Given the description of an element on the screen output the (x, y) to click on. 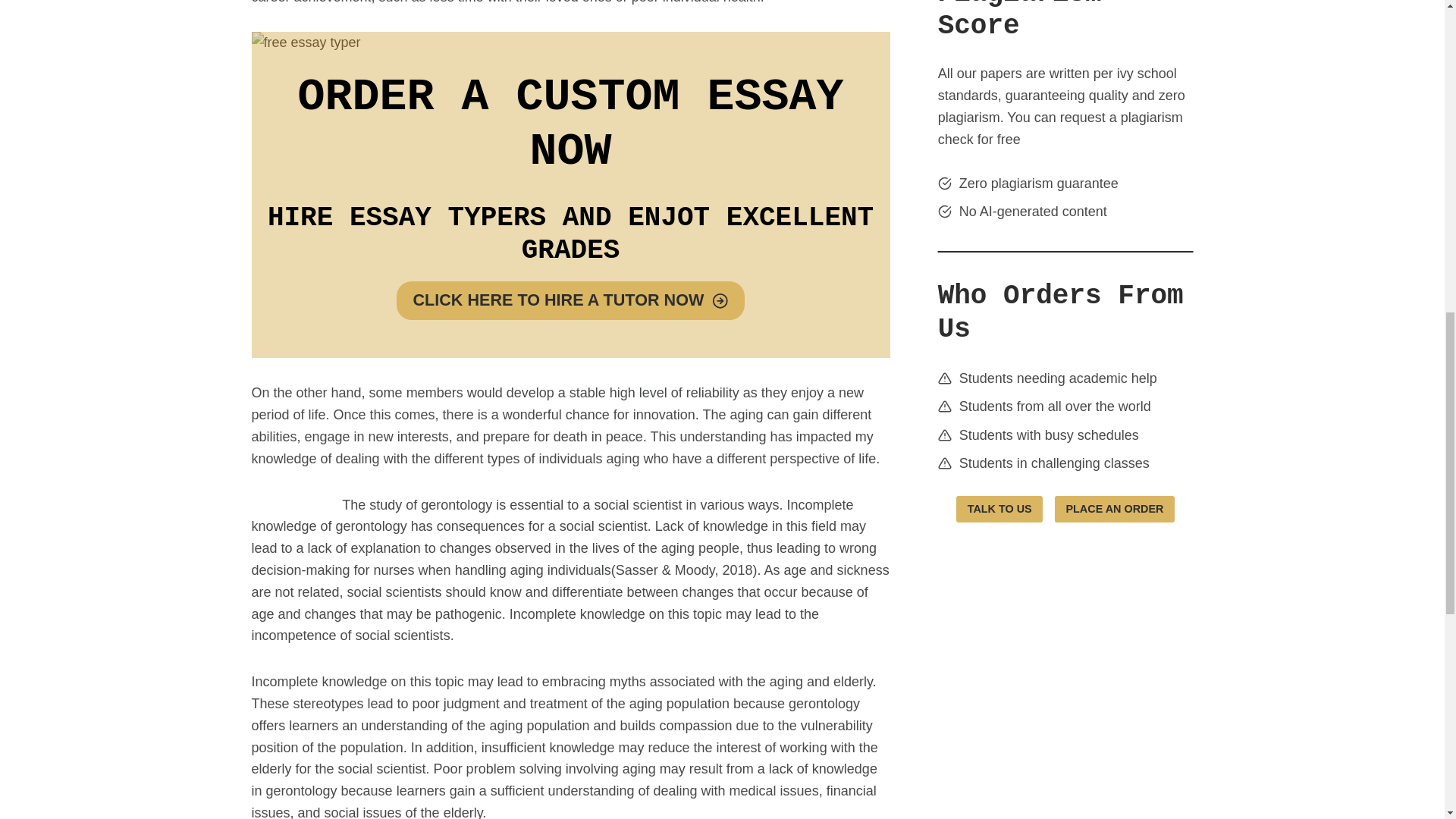
PLACE AN ORDER (1114, 509)
CLICK HERE TO HIRE A TUTOR NOW (570, 301)
TALK TO US (999, 509)
